Given the description of an element on the screen output the (x, y) to click on. 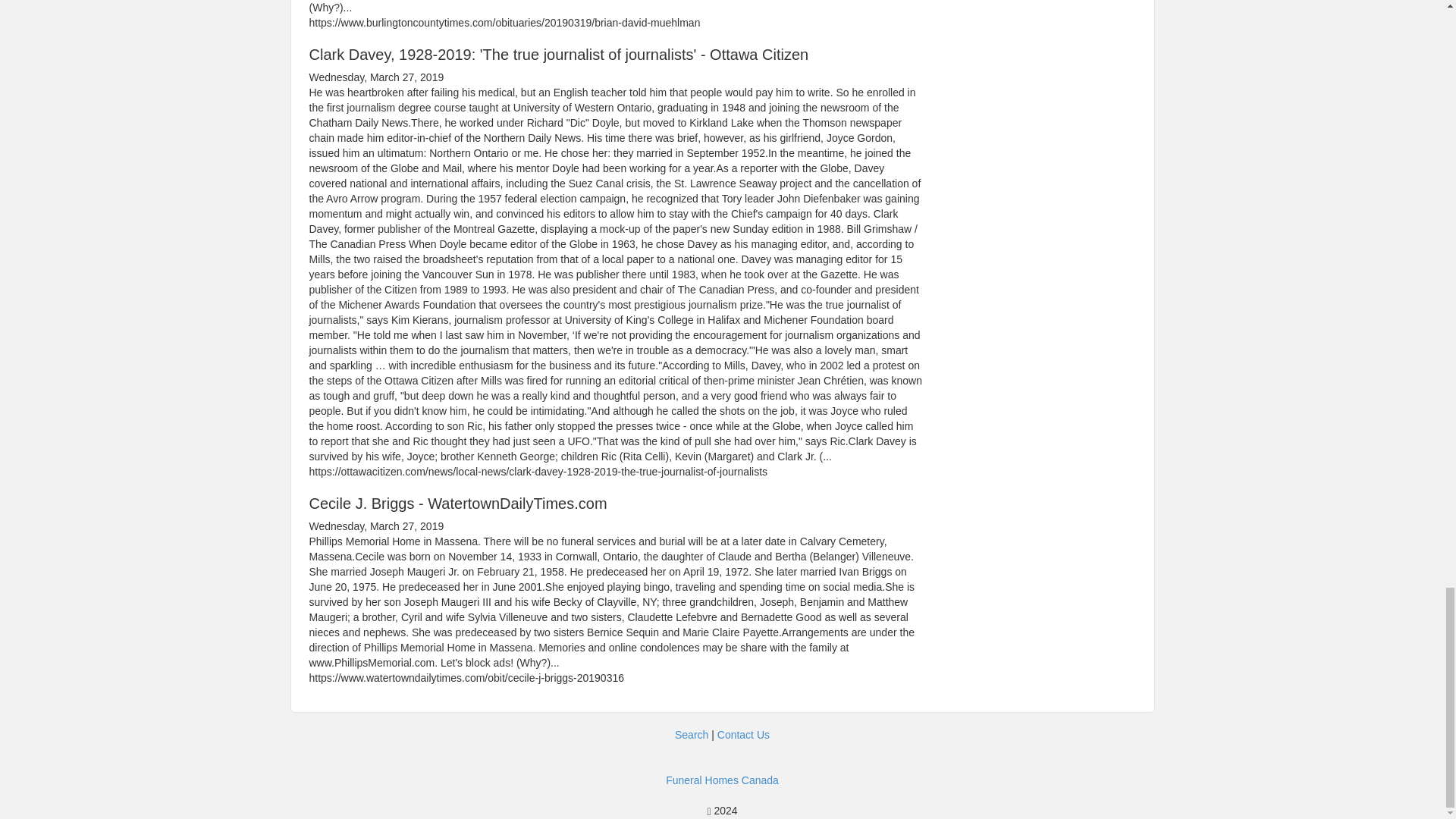
Search (691, 734)
Contact Us (743, 734)
Funeral Homes Canada (721, 779)
